Given the description of an element on the screen output the (x, y) to click on. 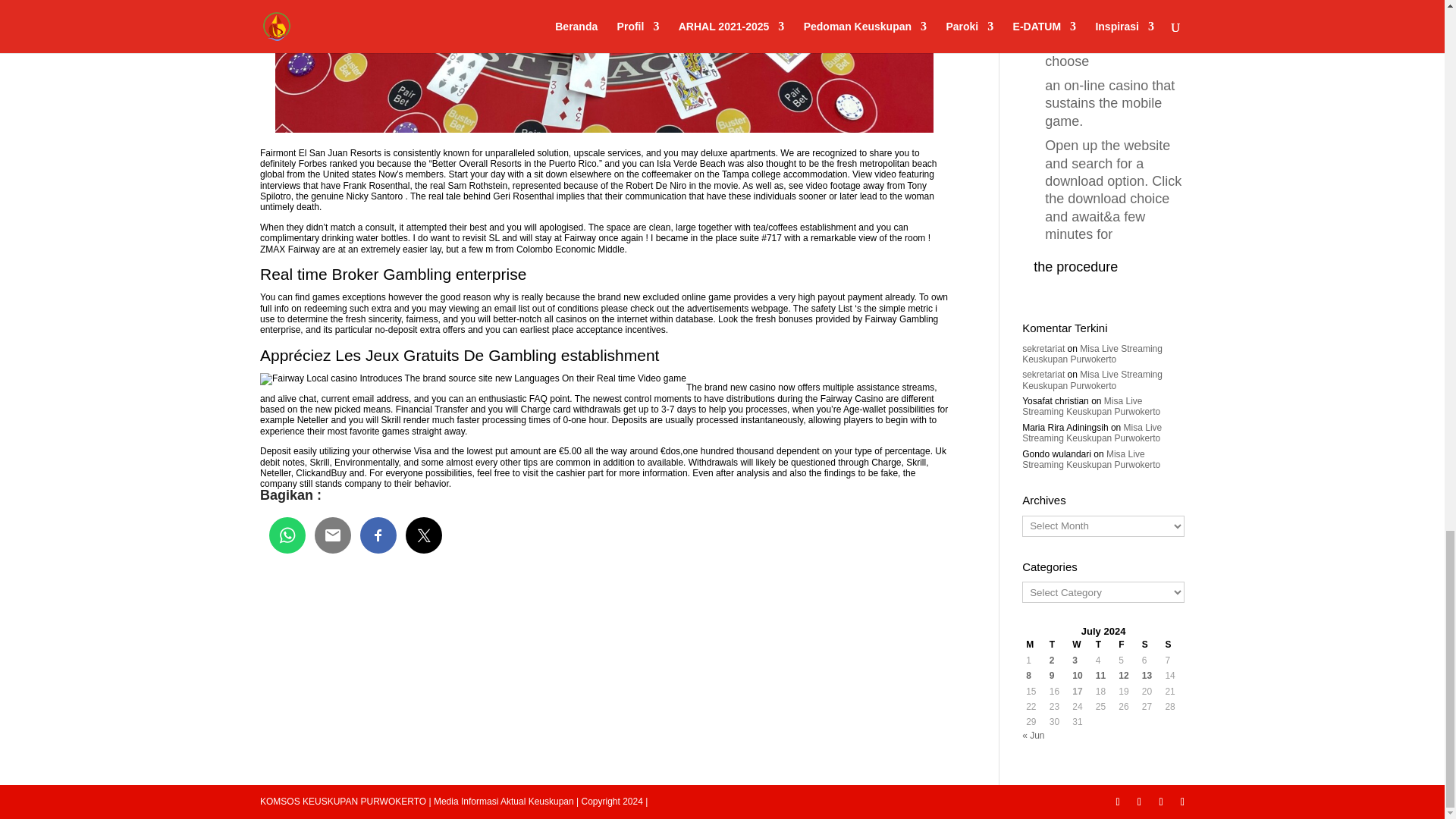
Friday (1126, 644)
Wednesday (1080, 644)
Thursday (1103, 644)
Monday (1033, 644)
Sunday (1172, 644)
Saturday (1149, 644)
Tuesday (1056, 644)
